Given the description of an element on the screen output the (x, y) to click on. 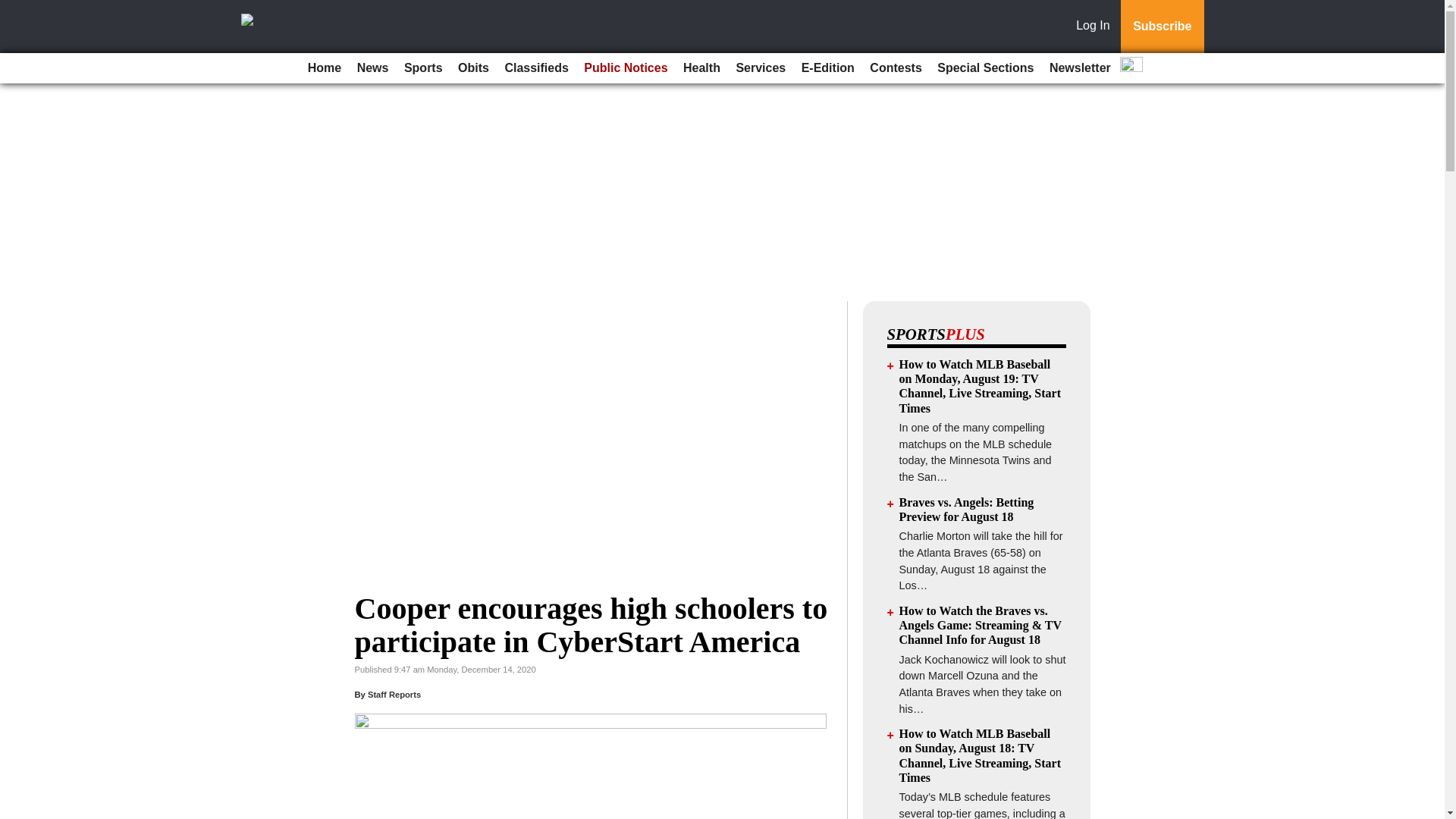
Subscribe (1162, 26)
Log In (1095, 26)
Newsletter (1079, 68)
News (372, 68)
Classifieds (535, 68)
Public Notices (625, 68)
Staff Reports (394, 694)
Obits (473, 68)
Go (13, 9)
Contests (895, 68)
